Given the description of an element on the screen output the (x, y) to click on. 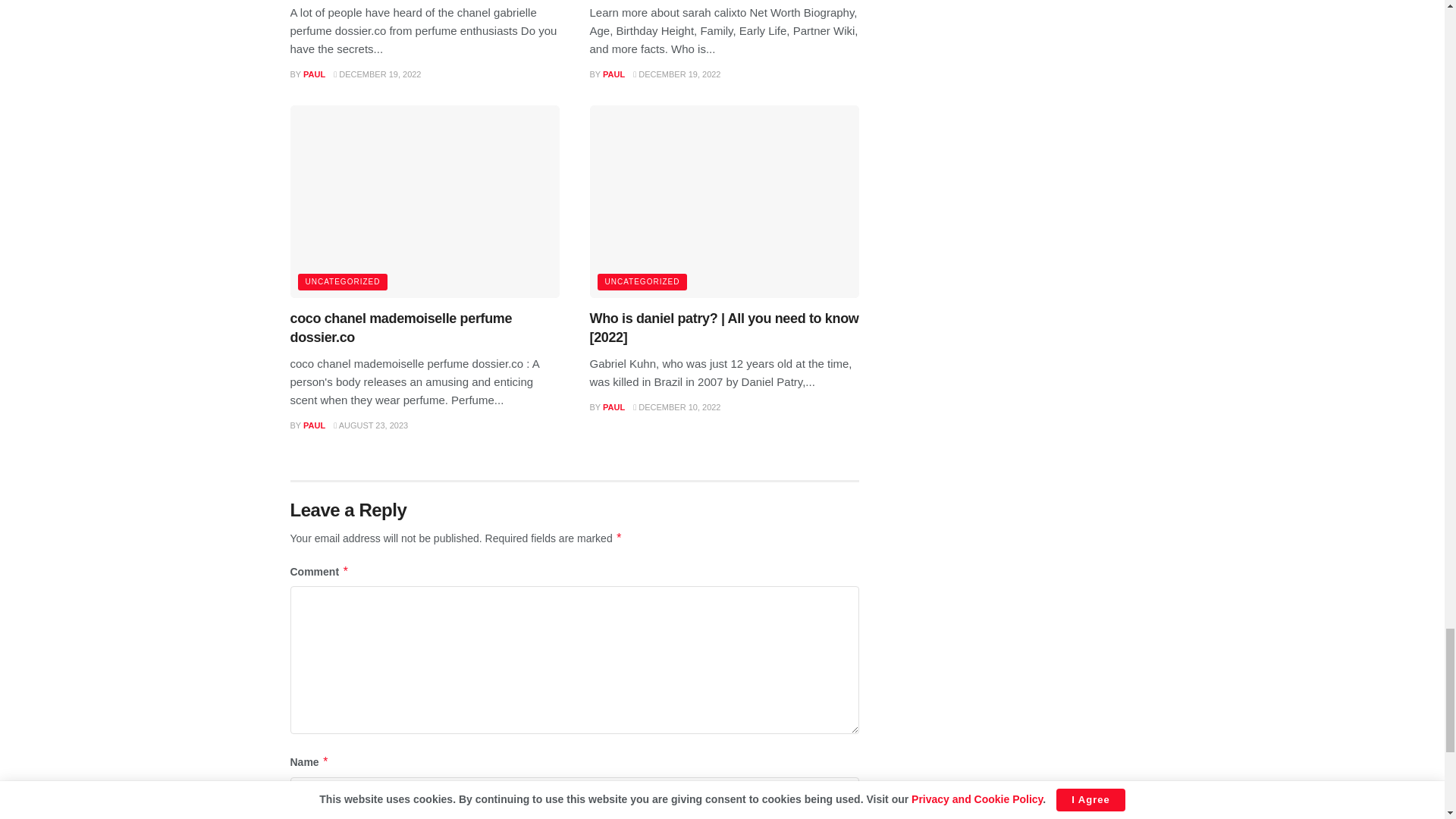
UNCATEGORIZED (342, 281)
DECEMBER 19, 2022 (376, 73)
PAUL (613, 73)
DECEMBER 19, 2022 (676, 73)
PAUL (313, 73)
